Given the description of an element on the screen output the (x, y) to click on. 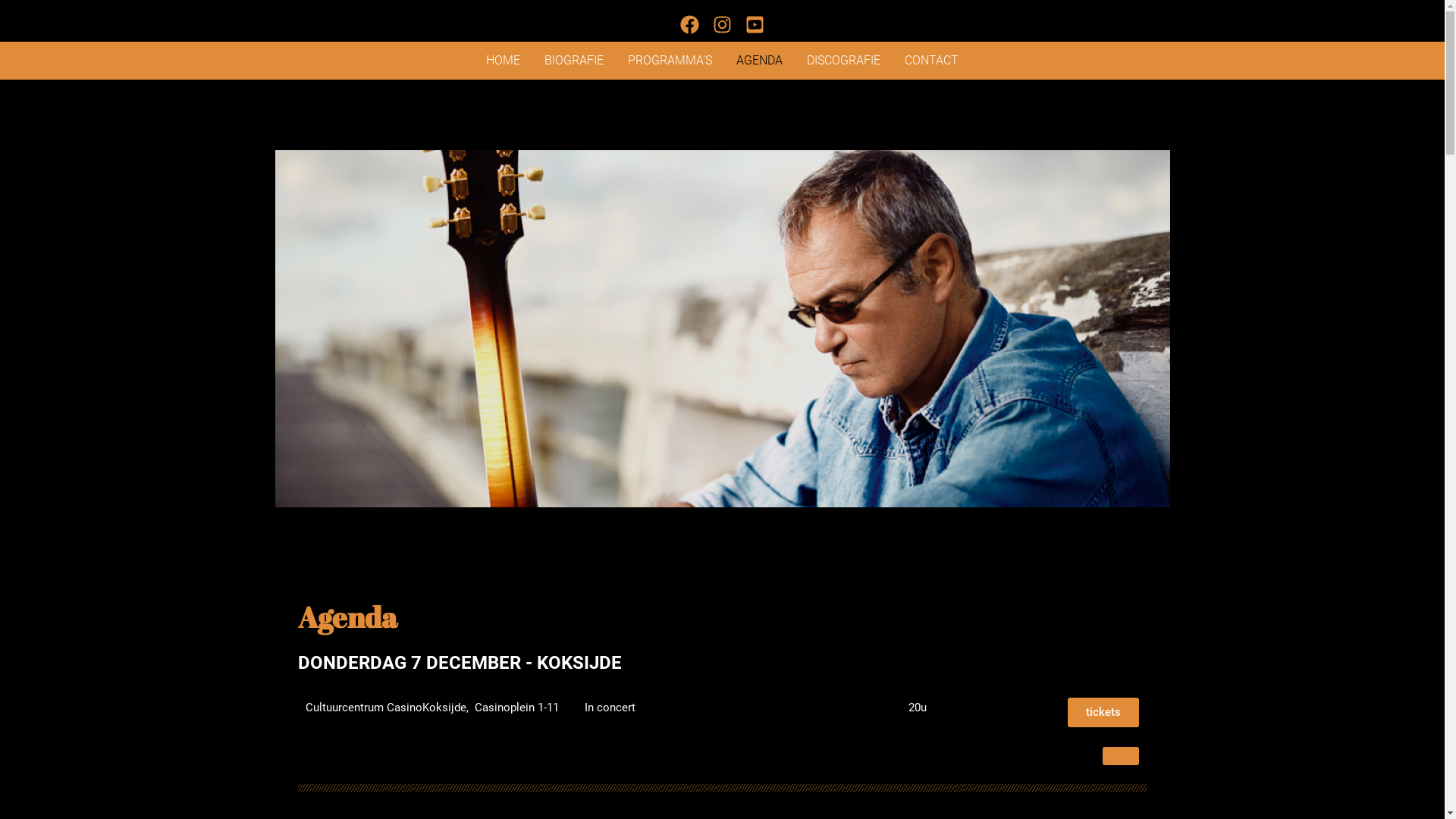
DISCOGRAFIE Element type: text (843, 60)
tickets Element type: text (1103, 712)
CONTACT Element type: text (931, 60)
HOME Element type: text (502, 60)
BIOGRAFIE Element type: text (573, 60)
AGENDA Element type: text (759, 60)
